Given the description of an element on the screen output the (x, y) to click on. 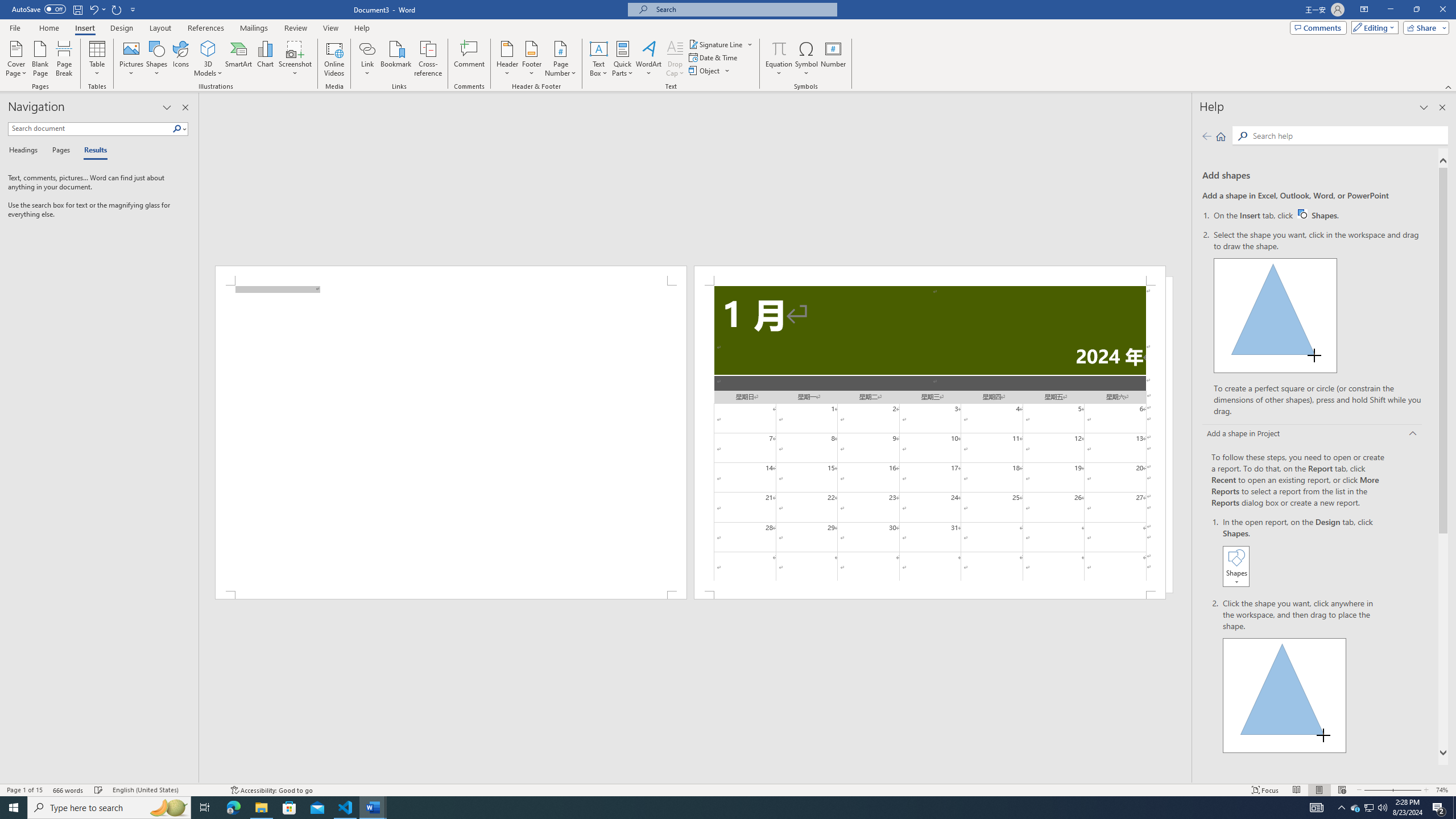
Object... (705, 69)
Add a shape in Project (1312, 434)
Drop Cap (674, 58)
Page 1 content (451, 438)
Word W32 Shapes button icon (1302, 213)
Equation (778, 48)
